Given the description of an element on the screen output the (x, y) to click on. 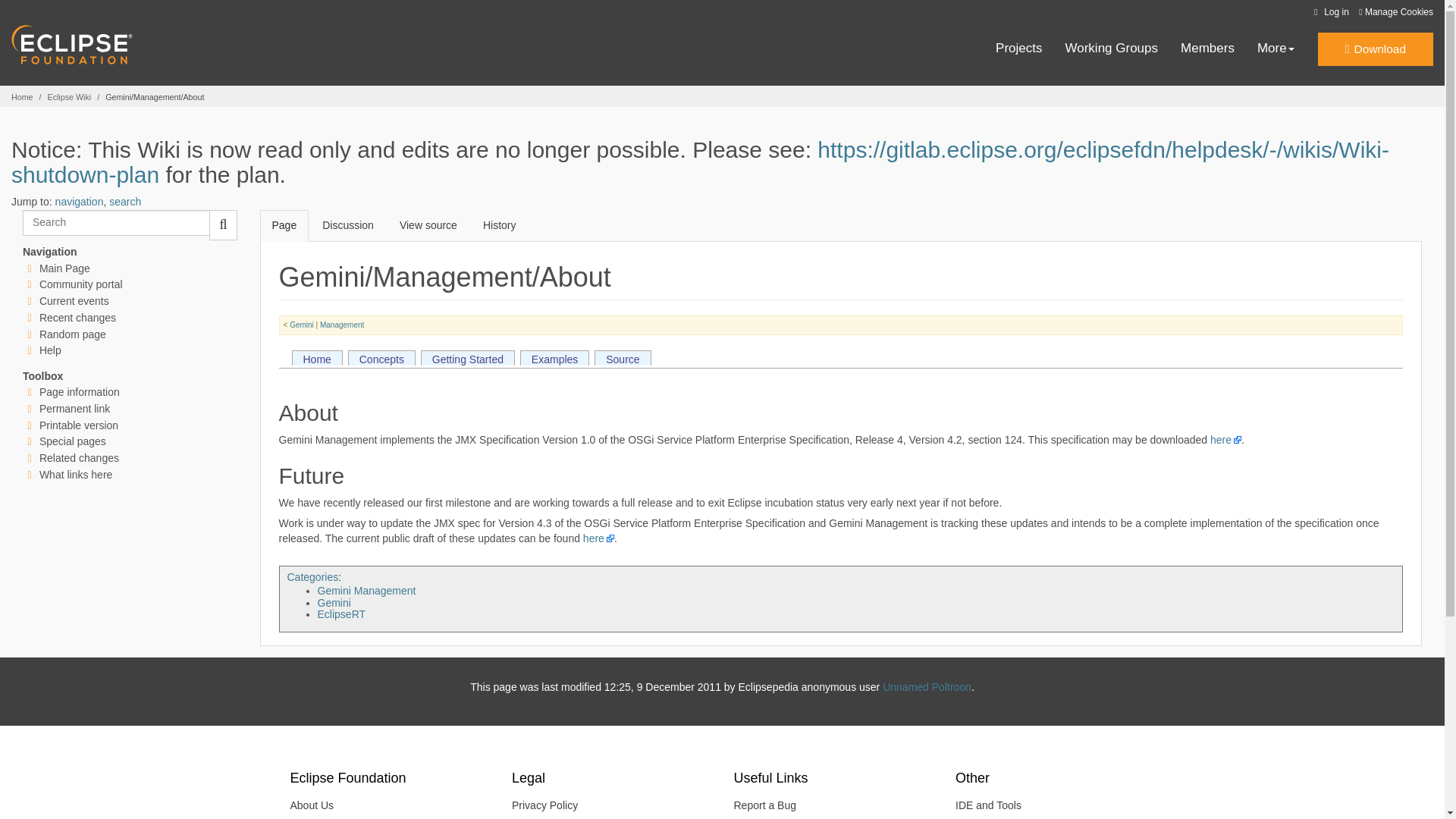
Projects (1018, 48)
Find background information on current events (74, 300)
Search the pages for this text (222, 224)
About the project, what you can do, where to find things (80, 284)
More information about this page (79, 391)
Log in (1328, 12)
Download (1374, 49)
Manage Cookies (1395, 12)
Permanent link to this revision of the page (74, 408)
More (1275, 48)
The place to find out (50, 349)
Special:Search (116, 222)
Working Groups (1111, 48)
Members (1207, 48)
